Given the description of an element on the screen output the (x, y) to click on. 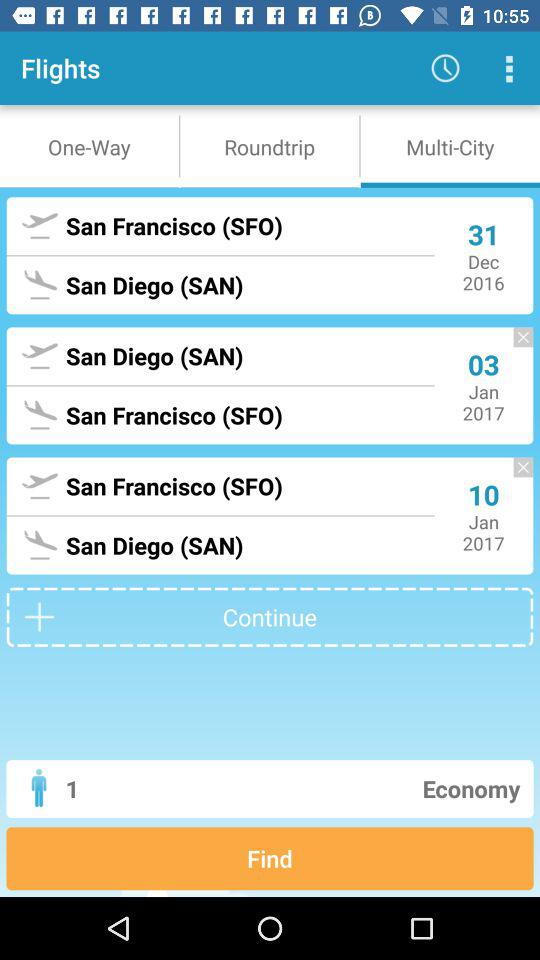
flip until 31
dec
2016 icon (483, 255)
